Given the description of an element on the screen output the (x, y) to click on. 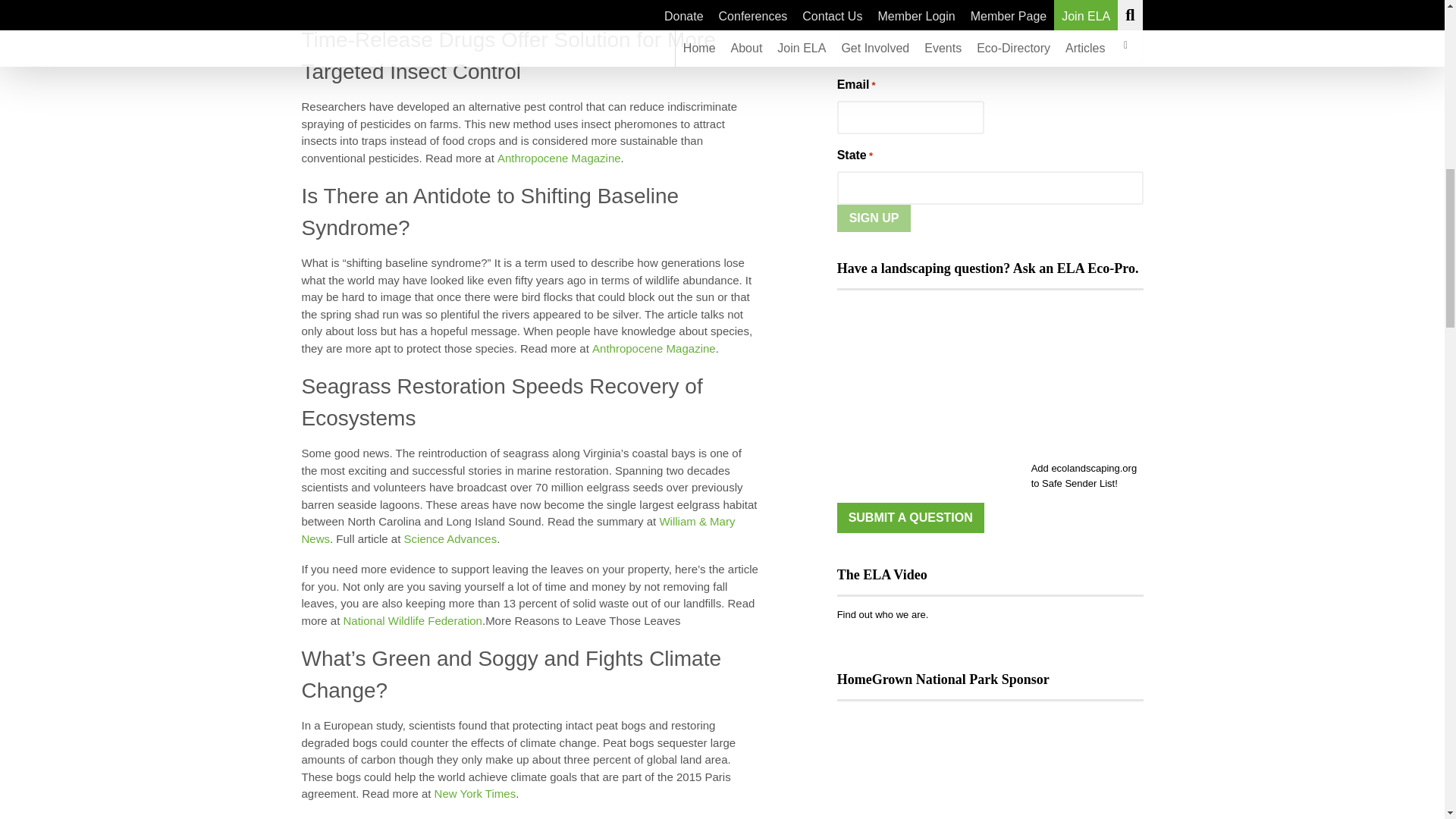
Sign up (874, 217)
